Given the description of an element on the screen output the (x, y) to click on. 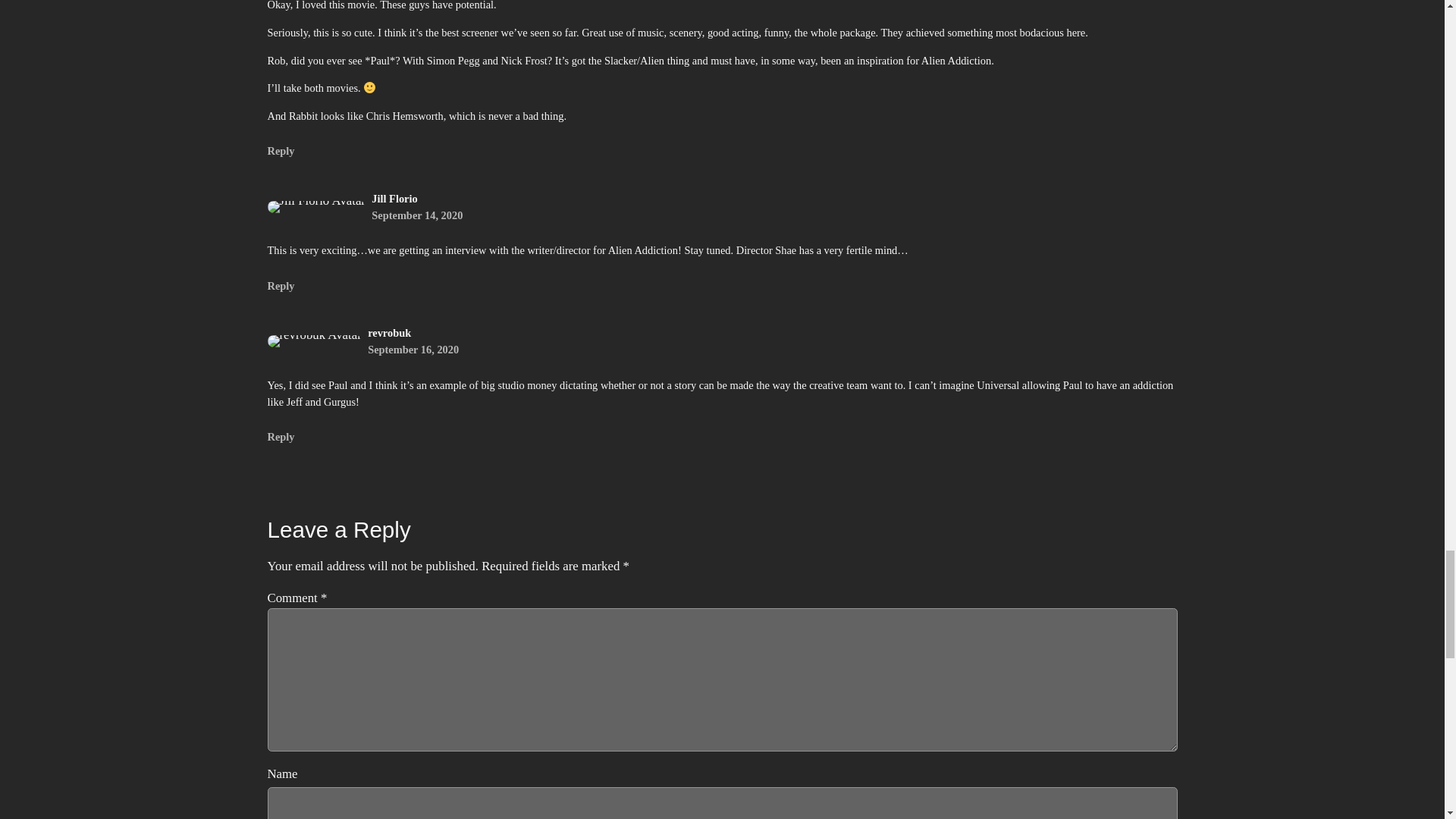
Jill Florio (393, 198)
September 14, 2020 (417, 215)
Reply (280, 285)
revrobuk (389, 332)
Reply (280, 436)
September 16, 2020 (413, 349)
Reply (280, 150)
